Given the description of an element on the screen output the (x, y) to click on. 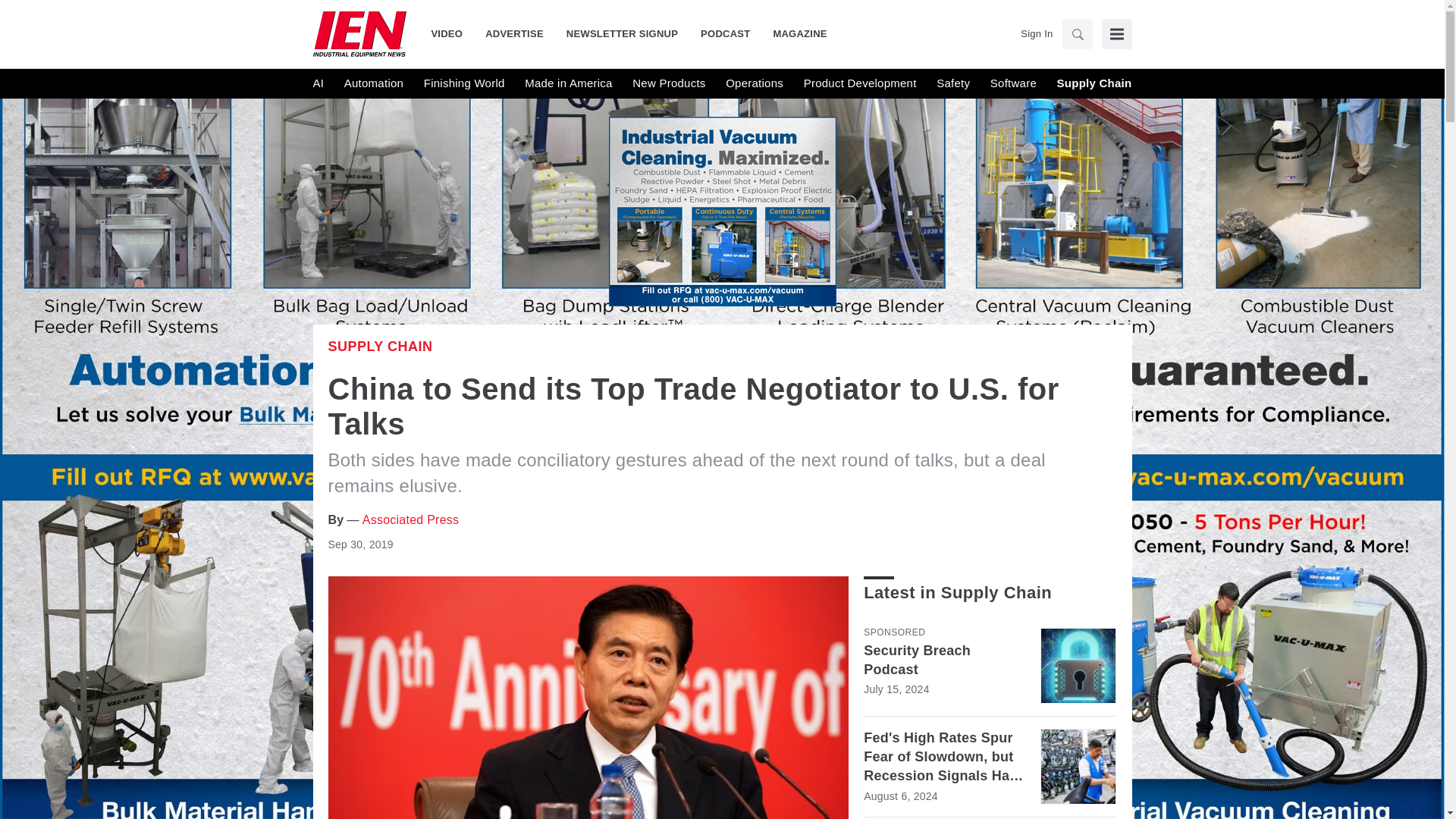
PODCAST (724, 33)
Safety (952, 83)
Supply Chain (379, 346)
Operations (754, 83)
Product Development (860, 83)
VIDEO (452, 33)
New Products (667, 83)
Sign In (1036, 33)
ADVERTISE (514, 33)
